Given the description of an element on the screen output the (x, y) to click on. 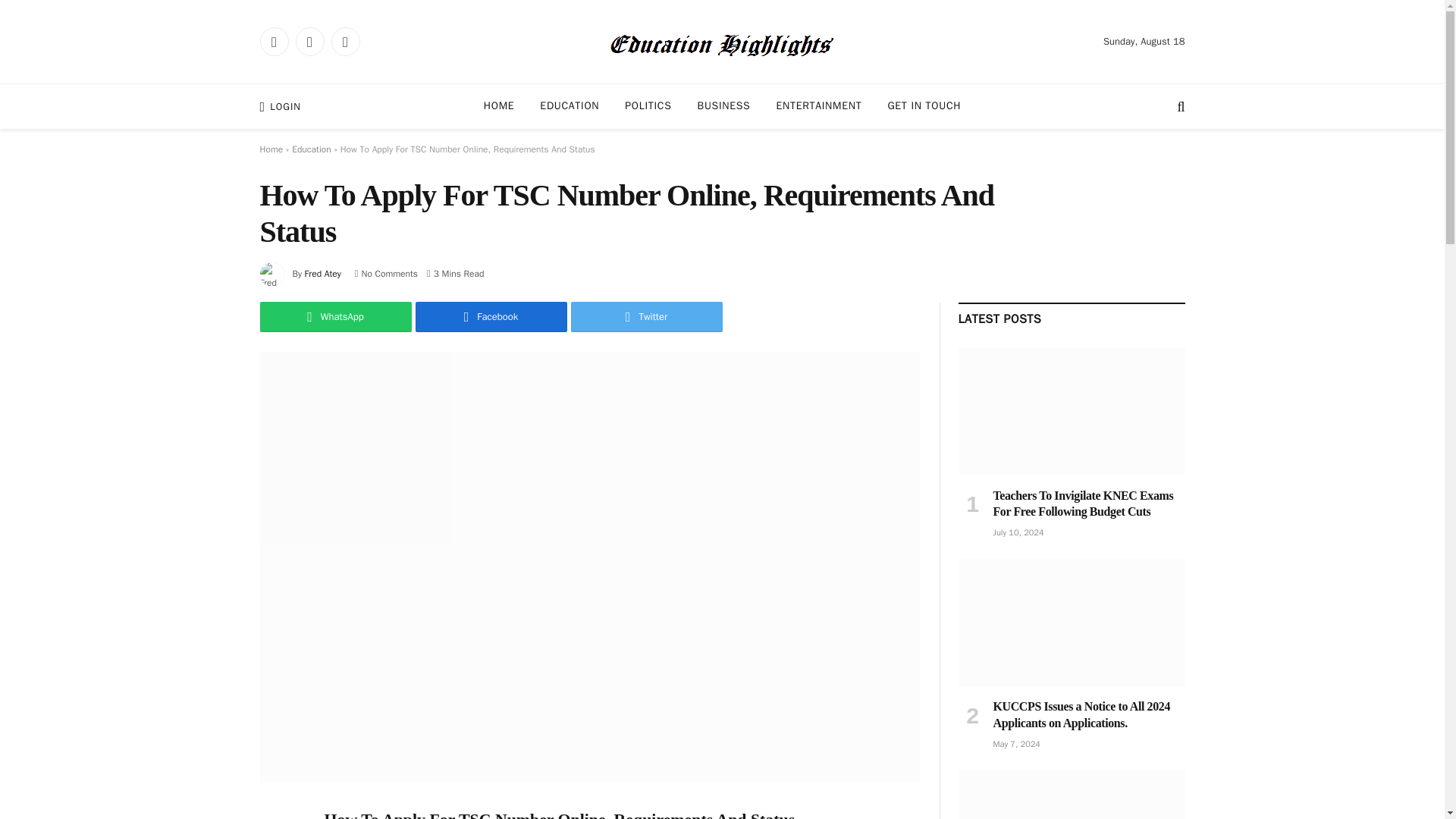
Twitter (309, 41)
Home (270, 149)
No Comments (386, 273)
POLITICS (647, 106)
LOGIN (279, 106)
Fred Atey (322, 273)
Twitter (646, 317)
Share on WhatsApp (334, 317)
GET IN TOUCH (924, 106)
Education Highlights (721, 41)
